Given the description of an element on the screen output the (x, y) to click on. 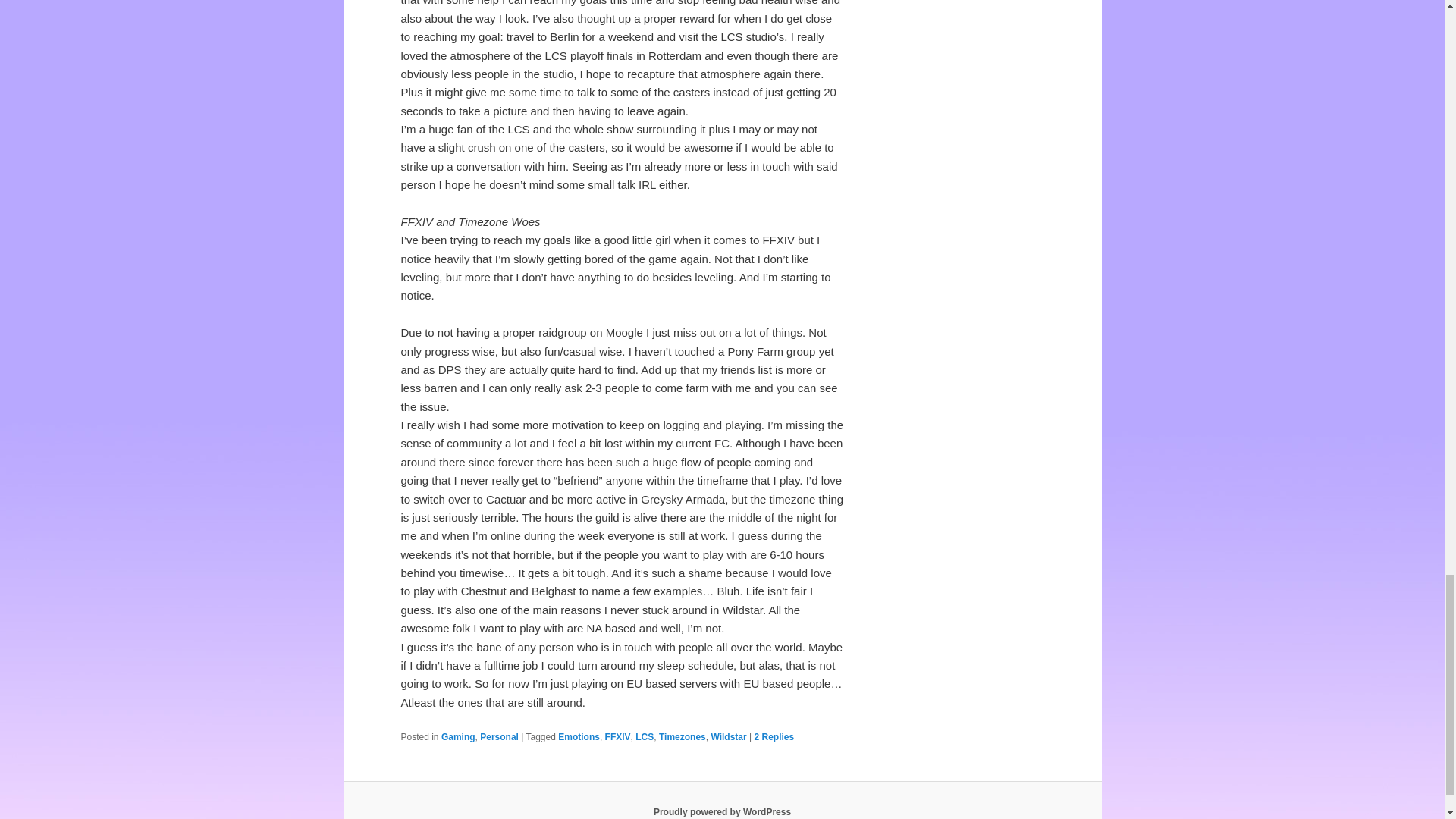
Wildstar (727, 737)
LCS (643, 737)
Emotions (578, 737)
Semantic Personal Publishing Platform (721, 811)
FFXIV (617, 737)
Personal (499, 737)
Gaming (458, 737)
Timezones (682, 737)
2 Replies (773, 737)
